Given the description of an element on the screen output the (x, y) to click on. 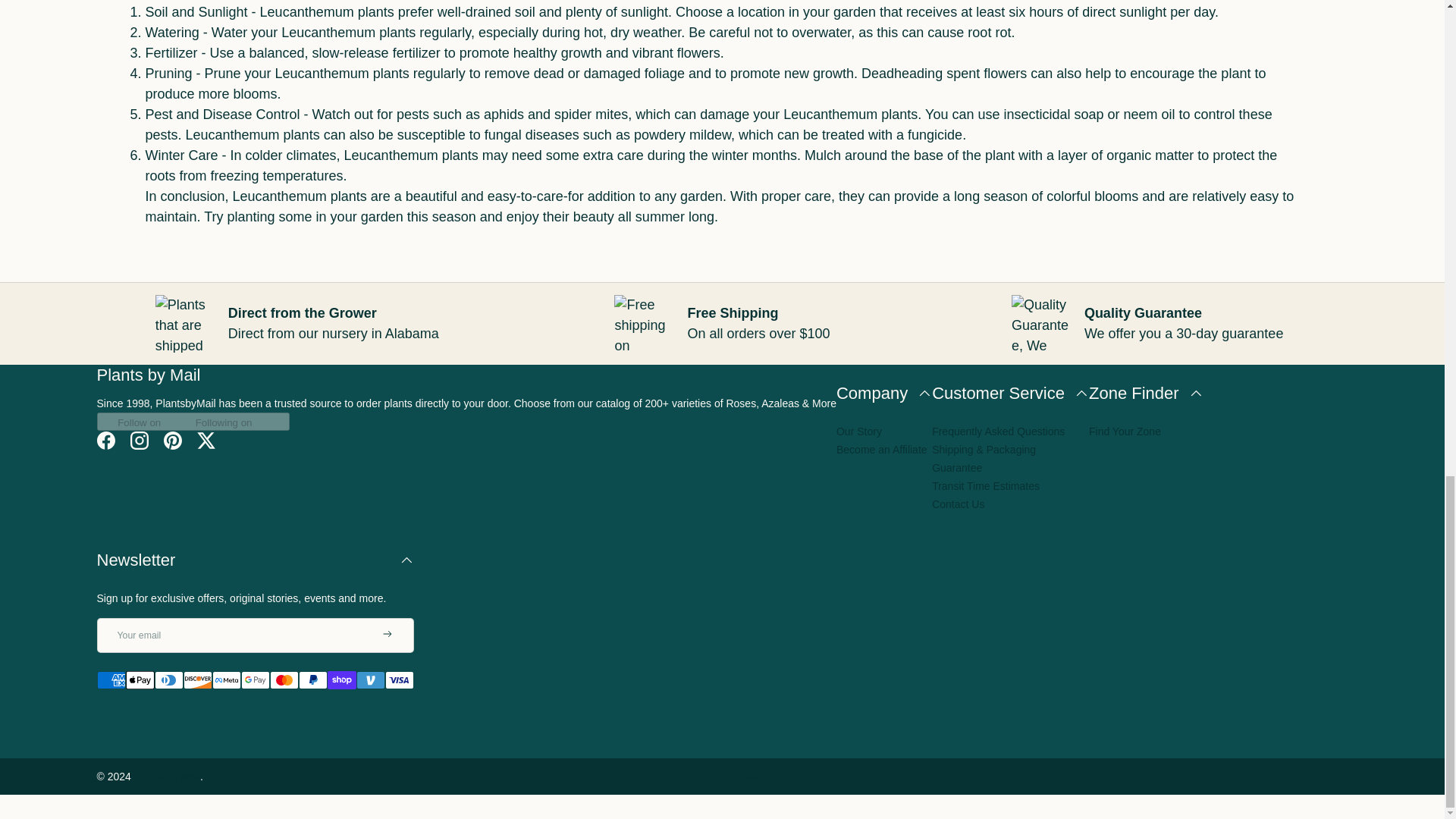
Plants by Mail on Facebook (105, 440)
Plants by Mail on Instagram (138, 440)
Plants by Mail on Twitter (205, 440)
Plants by Mail on Pinterest (172, 440)
